Given the description of an element on the screen output the (x, y) to click on. 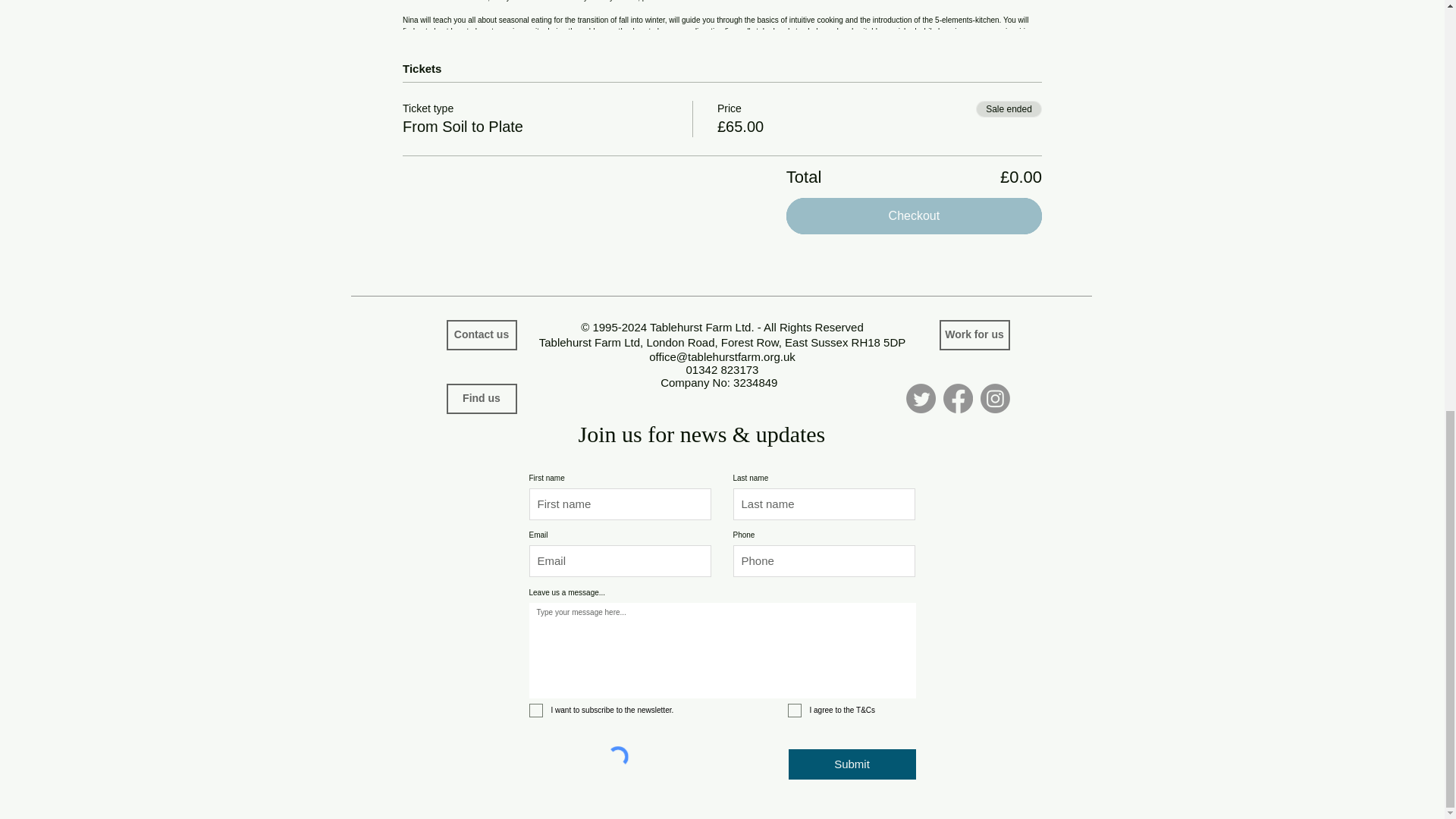
Work for us (974, 335)
Contact us (480, 335)
Checkout (914, 216)
Find us (480, 399)
Submit (852, 764)
